Given the description of an element on the screen output the (x, y) to click on. 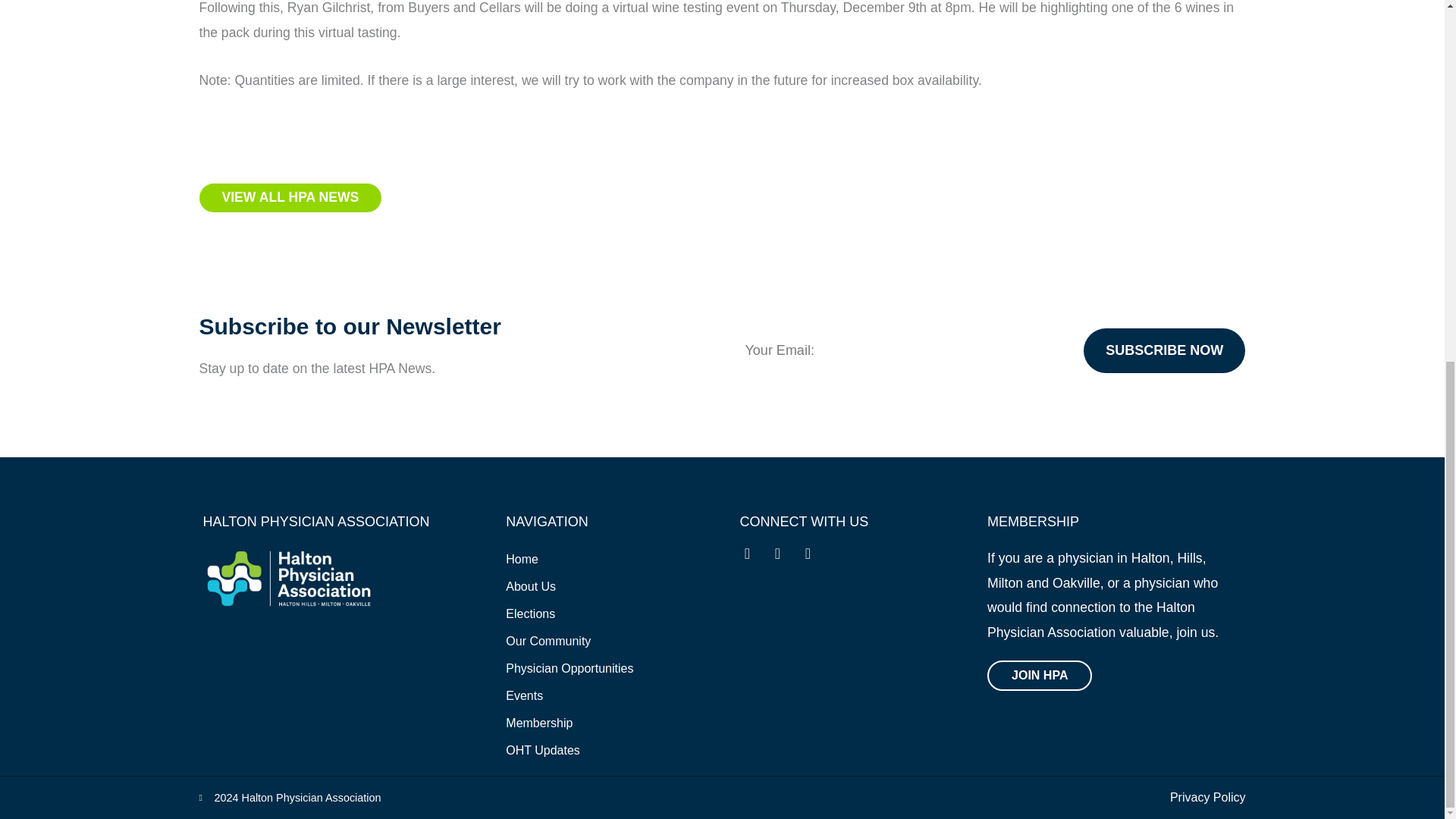
Events (569, 696)
About Us (569, 586)
Home (569, 559)
OHT Updates (569, 750)
Instagram (754, 561)
Facebook (784, 561)
Privacy Policy (1208, 797)
SUBSCRIBE NOW (1163, 350)
Membership (569, 723)
Envelope (814, 561)
